Given the description of an element on the screen output the (x, y) to click on. 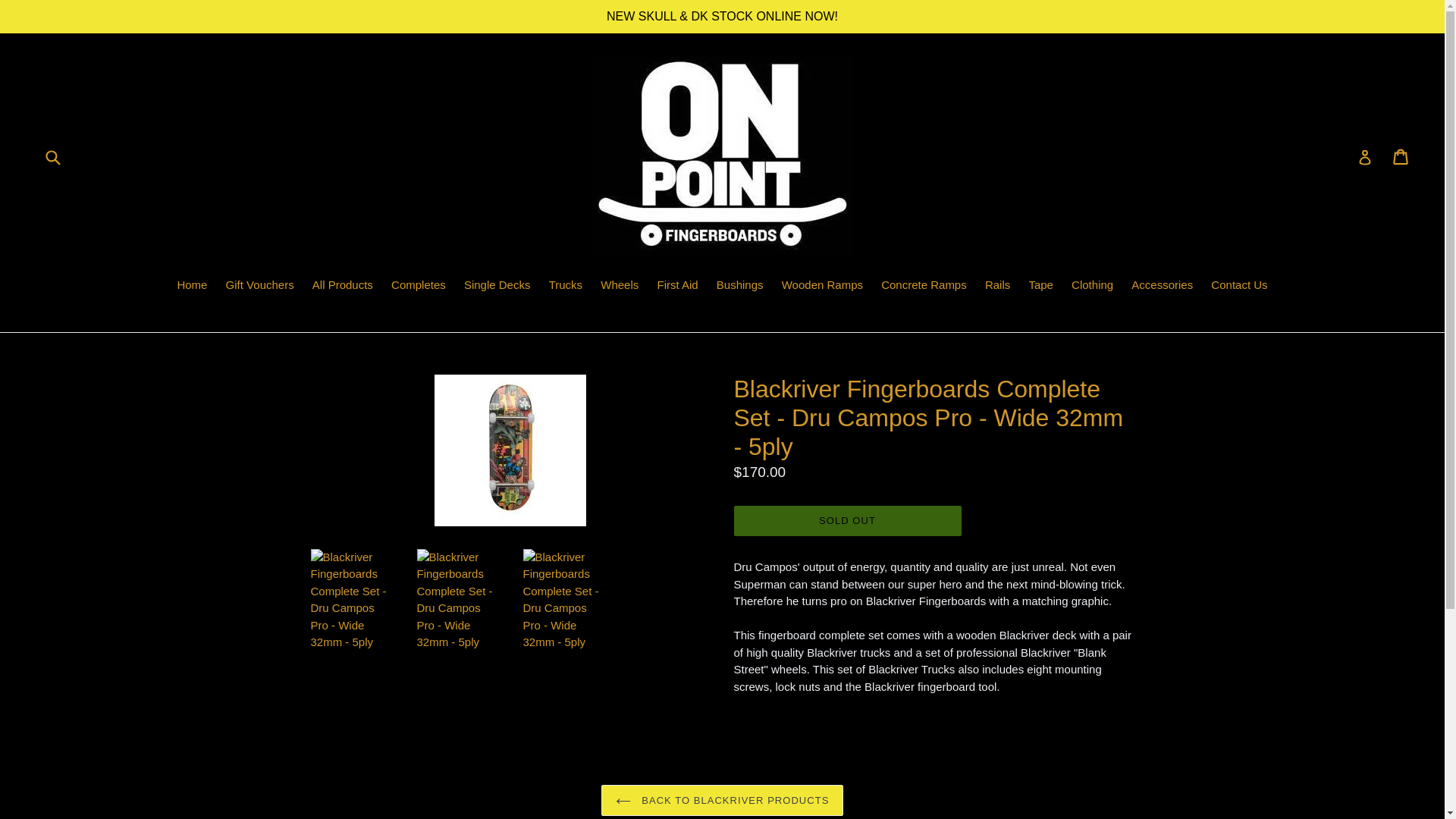
Accessories (1161, 286)
Single Decks (497, 286)
All Products (342, 286)
Completes (418, 286)
Bushings (740, 286)
Concrete Ramps (923, 286)
Tape (1040, 286)
Wooden Ramps (822, 286)
First Aid (676, 286)
Gift Vouchers (259, 286)
Wheels (619, 286)
Rails (996, 286)
Trucks (565, 286)
Home (191, 286)
Clothing (1092, 286)
